Given the description of an element on the screen output the (x, y) to click on. 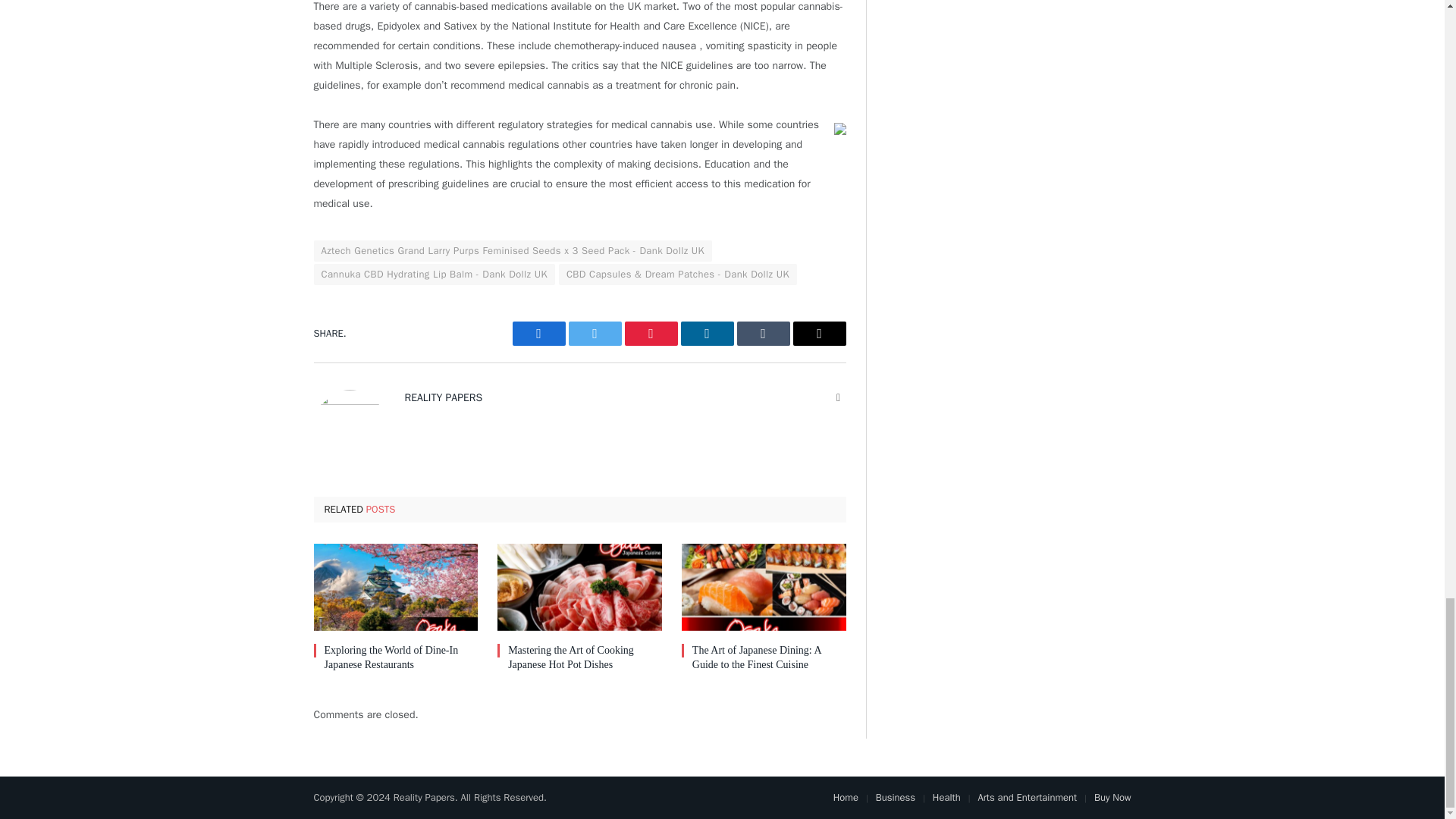
Pinterest (651, 333)
Share on LinkedIn (707, 333)
Tumblr (763, 333)
Share on Pinterest (651, 333)
Facebook (539, 333)
LinkedIn (707, 333)
Email (819, 333)
Twitter (595, 333)
Share on Facebook (539, 333)
